Given the description of an element on the screen output the (x, y) to click on. 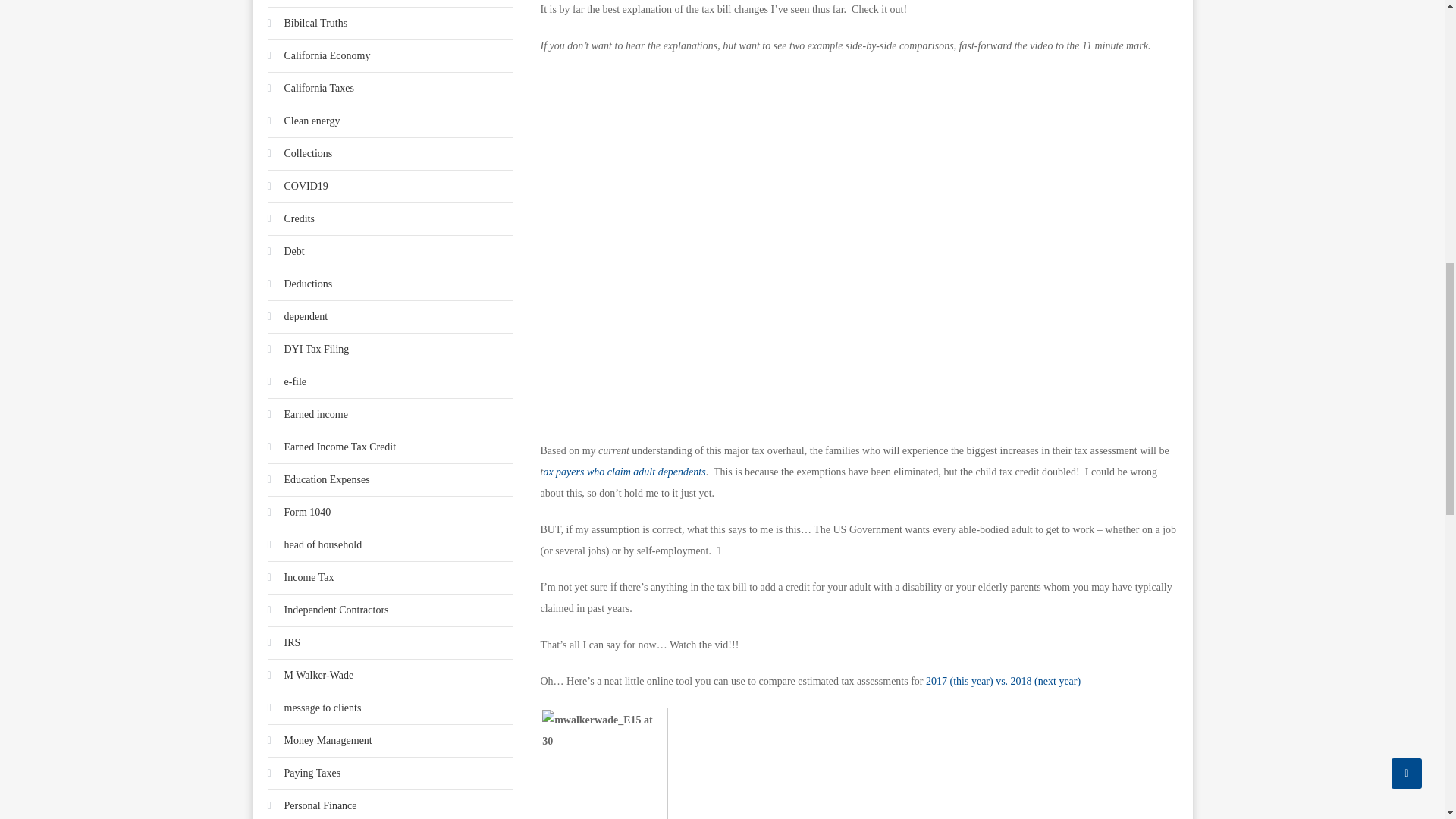
ax payers who claim adult dependents (623, 471)
B2B (284, 1)
Search (1129, 792)
Bibilcal Truths (306, 23)
